Given the description of an element on the screen output the (x, y) to click on. 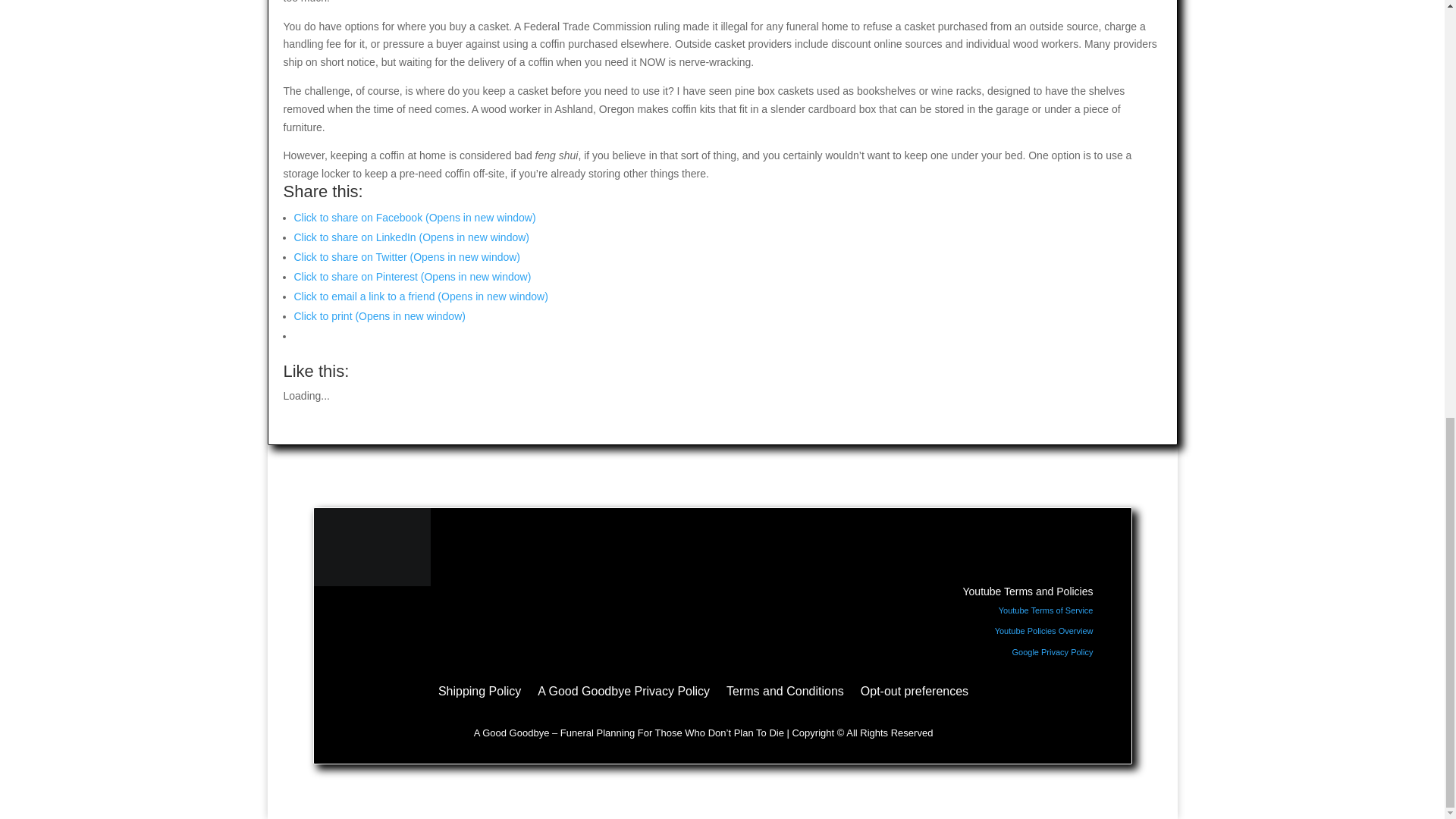
Click to share on LinkedIn (411, 236)
Click to share on Pinterest (412, 276)
Click to email a link to a friend (421, 296)
Click to share on Twitter (407, 256)
Click to share on Facebook (414, 217)
Click to print (379, 316)
